Given the description of an element on the screen output the (x, y) to click on. 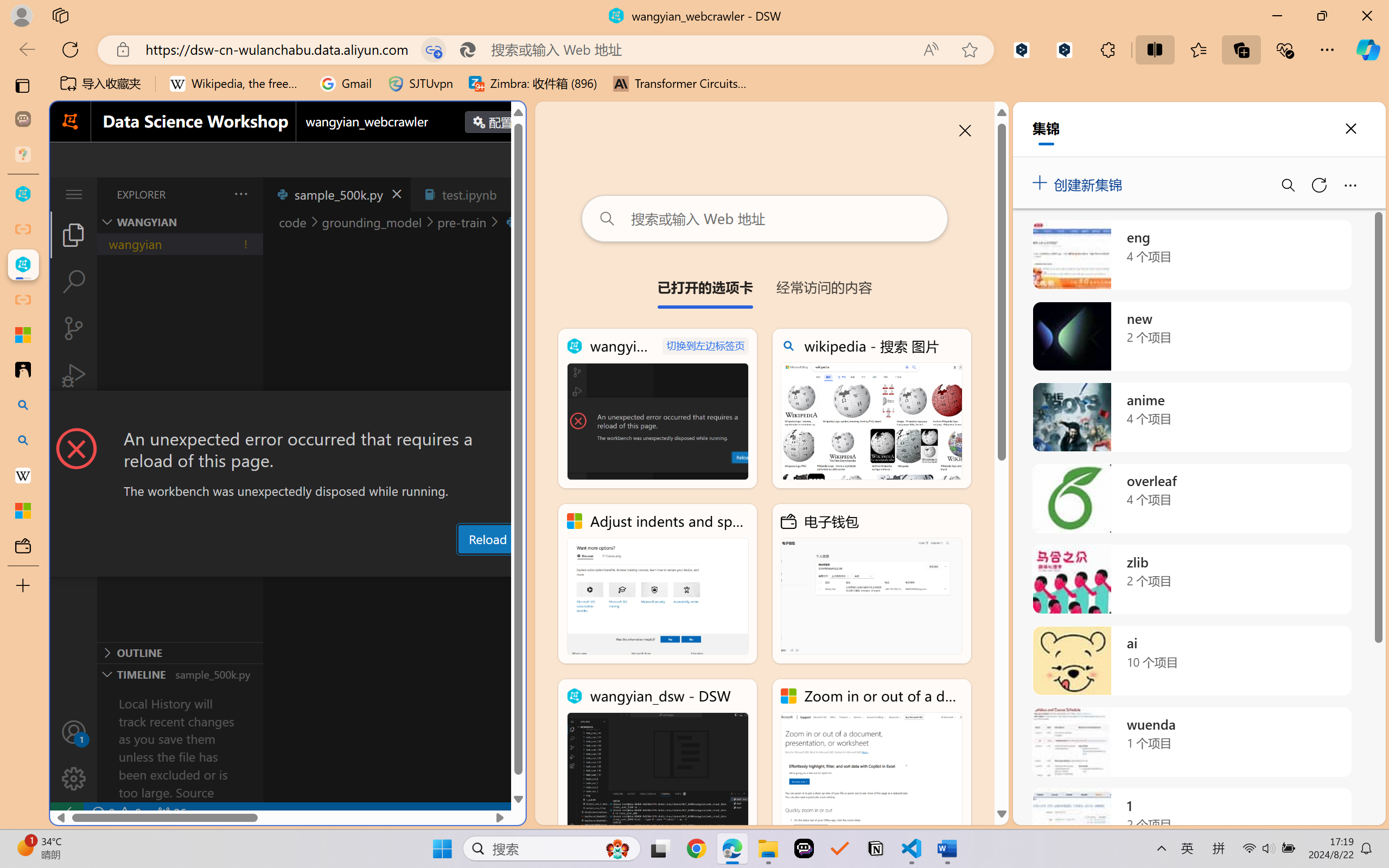
Application Menu (73, 194)
Outline Section (179, 652)
Source Control (Ctrl+Shift+G) (73, 328)
Manage (73, 778)
Wikipedia, the free encyclopedia (236, 83)
wangyian_webcrawler - DSW (22, 264)
